Given the description of an element on the screen output the (x, y) to click on. 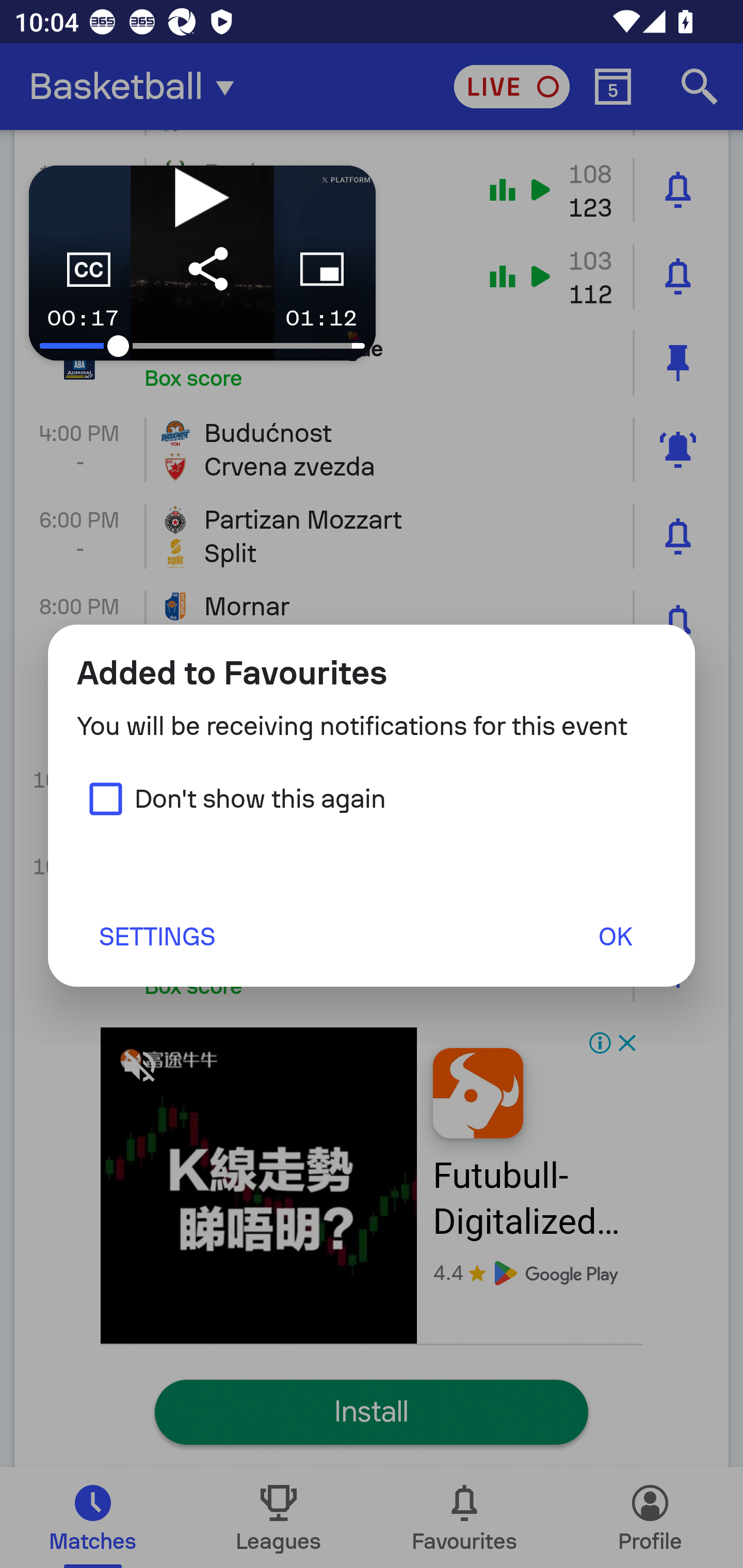
Don't show this again (231, 798)
SETTINGS (156, 936)
OK (615, 936)
